Given the description of an element on the screen output the (x, y) to click on. 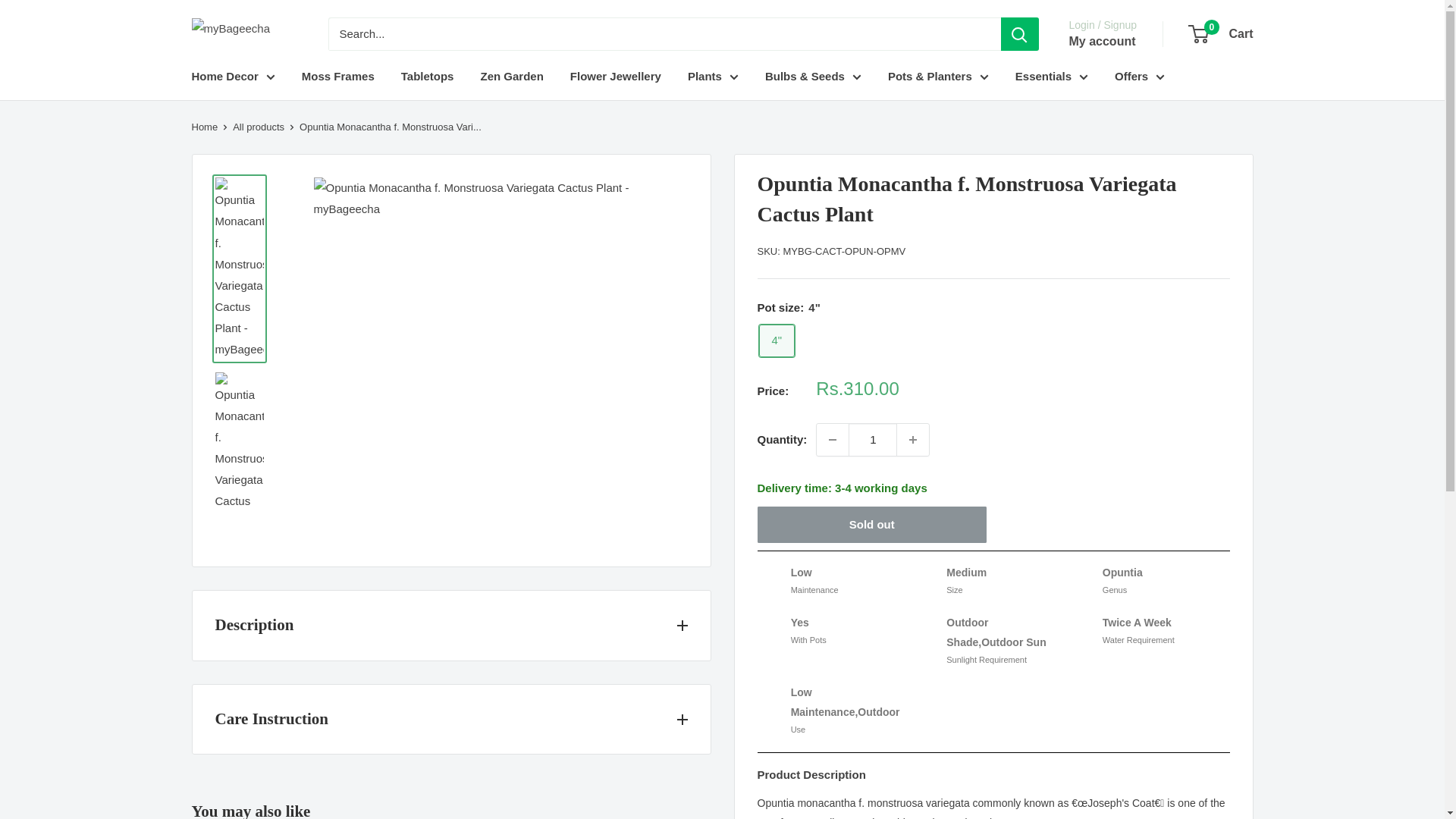
4" (776, 340)
Increase quantity by 1 (912, 439)
Decrease quantity by 1 (832, 439)
1 (872, 439)
